Given the description of an element on the screen output the (x, y) to click on. 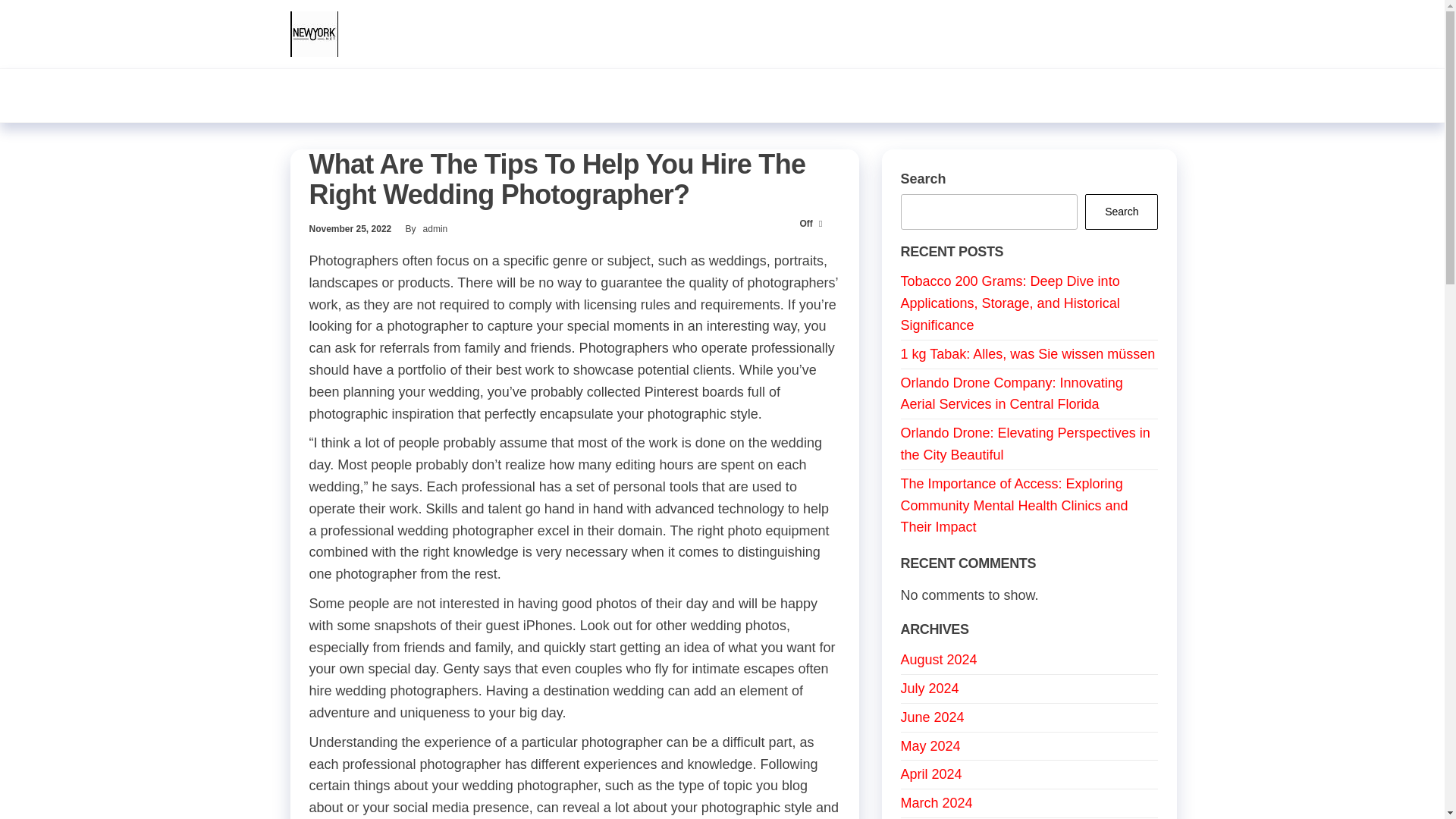
June 2024 (932, 717)
admin (435, 228)
April 2024 (931, 774)
August 2024 (938, 659)
Search (1120, 212)
May 2024 (930, 745)
Orlando Drone: Elevating Perspectives in the City Beautiful (1025, 443)
March 2024 (936, 802)
July 2024 (930, 688)
